Given the description of an element on the screen output the (x, y) to click on. 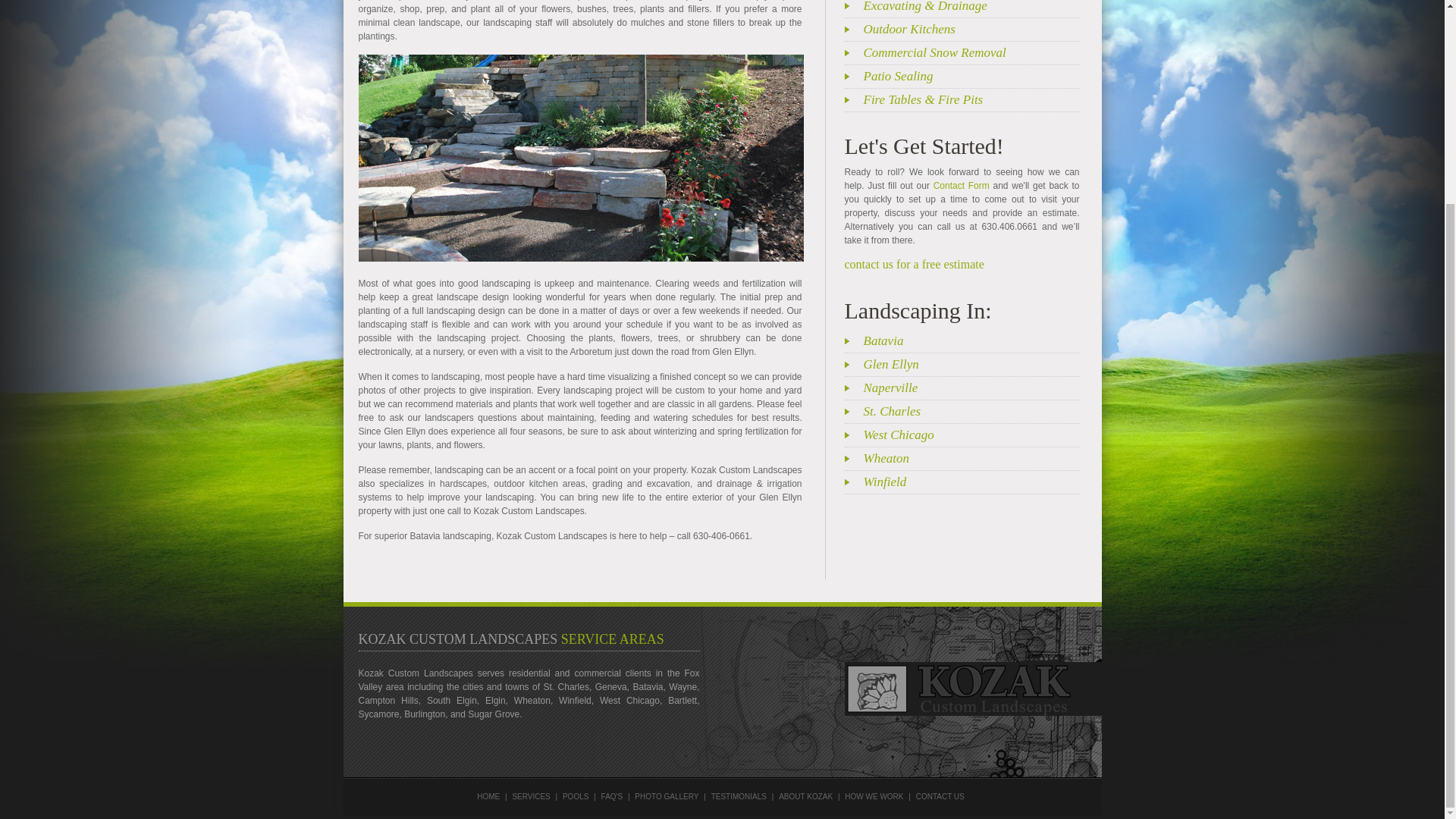
Contact Form (961, 185)
Commercial Snow Removal (970, 52)
FAQ'S (612, 796)
HOME (488, 796)
CONTACT US (939, 796)
ABOUT KOZAK (805, 796)
contact us for a free estimate (914, 264)
TESTIMONIALS (739, 796)
POOLS (575, 796)
Outdoor Kitchens (970, 29)
